Given the description of an element on the screen output the (x, y) to click on. 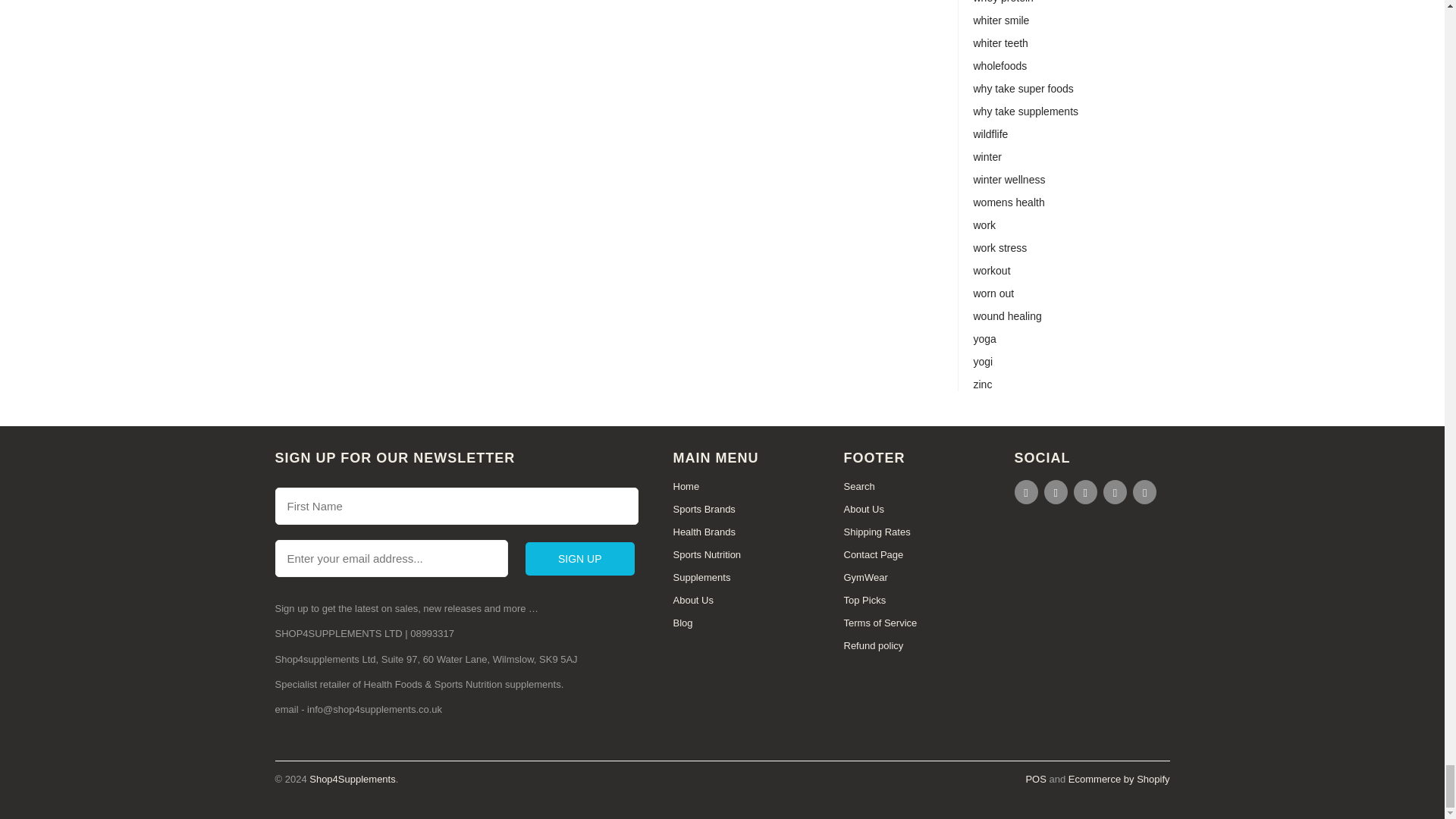
Sign Up (579, 558)
